Given the description of an element on the screen output the (x, y) to click on. 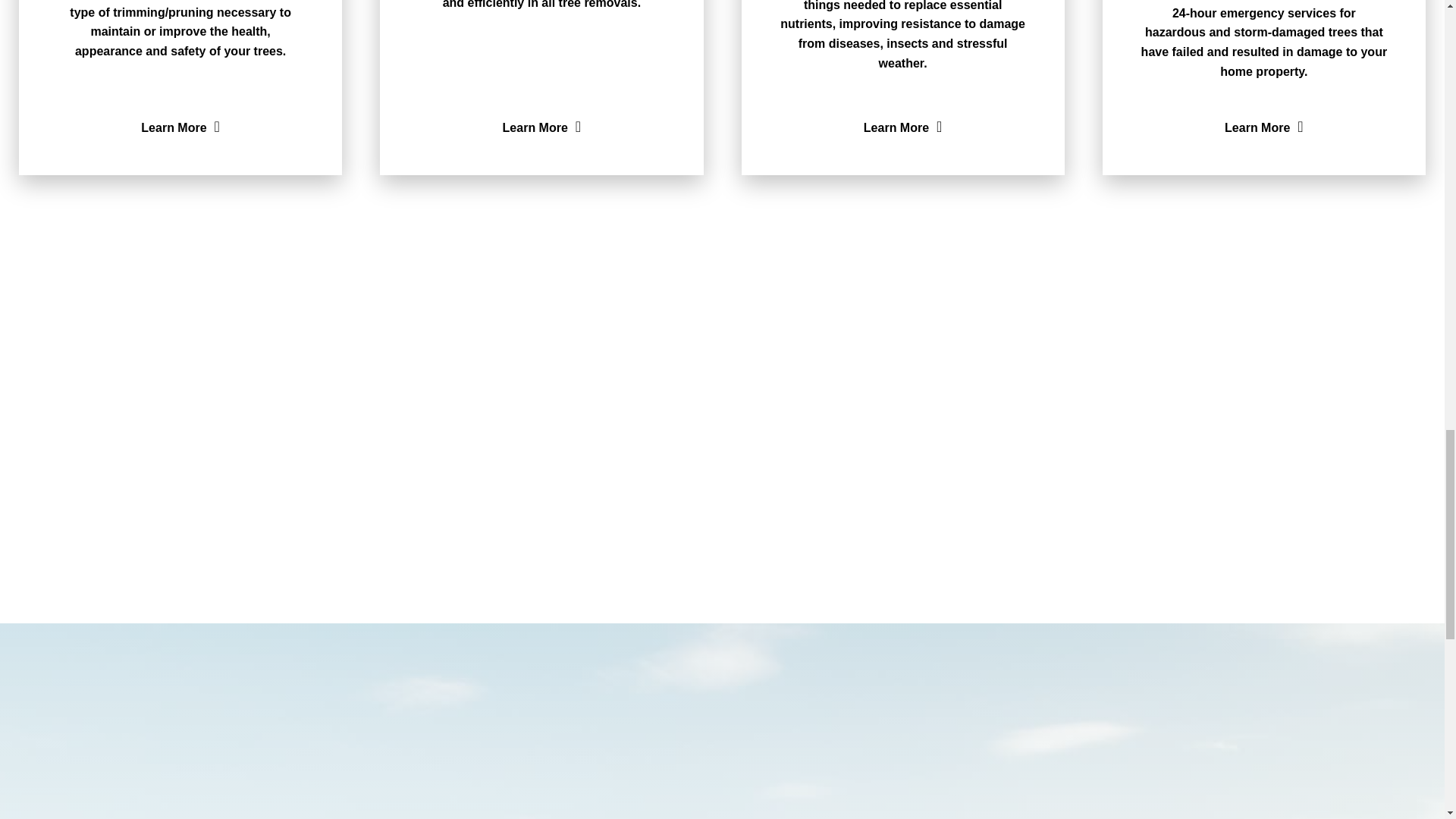
Learn More (541, 127)
Learn More (180, 127)
Learn More (902, 127)
